Given the description of an element on the screen output the (x, y) to click on. 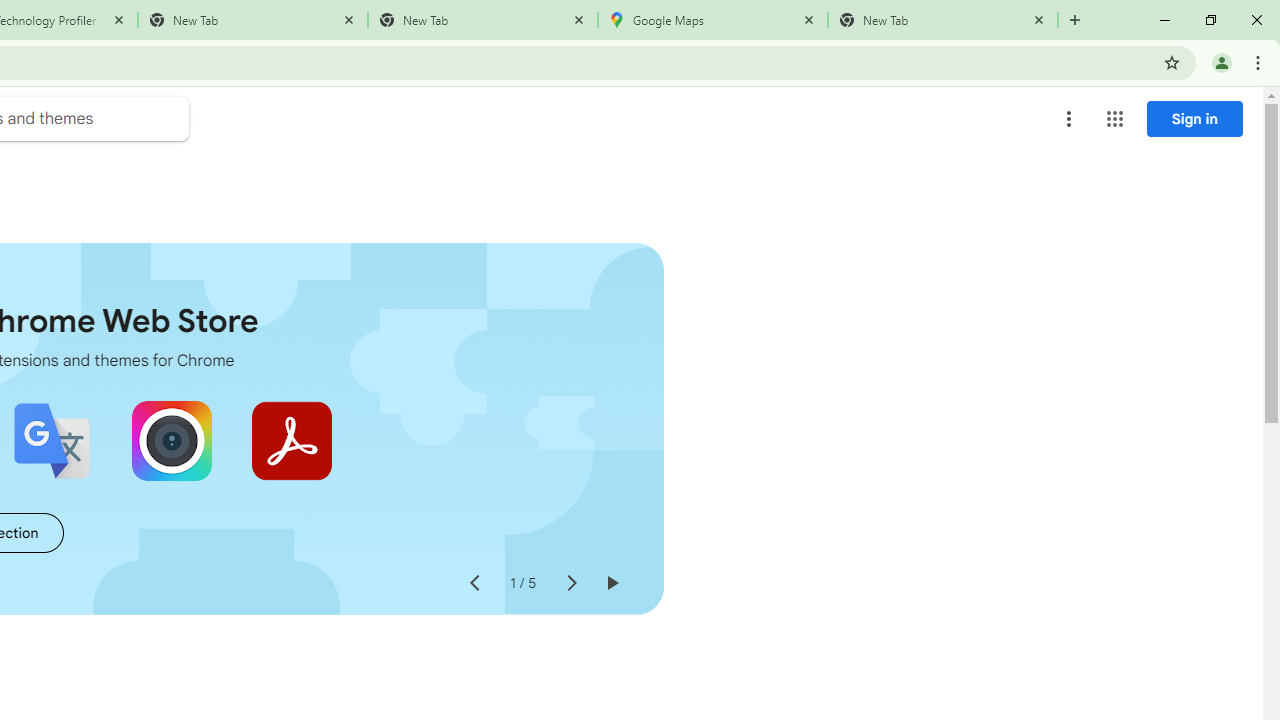
Google Maps (712, 20)
